Given the description of an element on the screen output the (x, y) to click on. 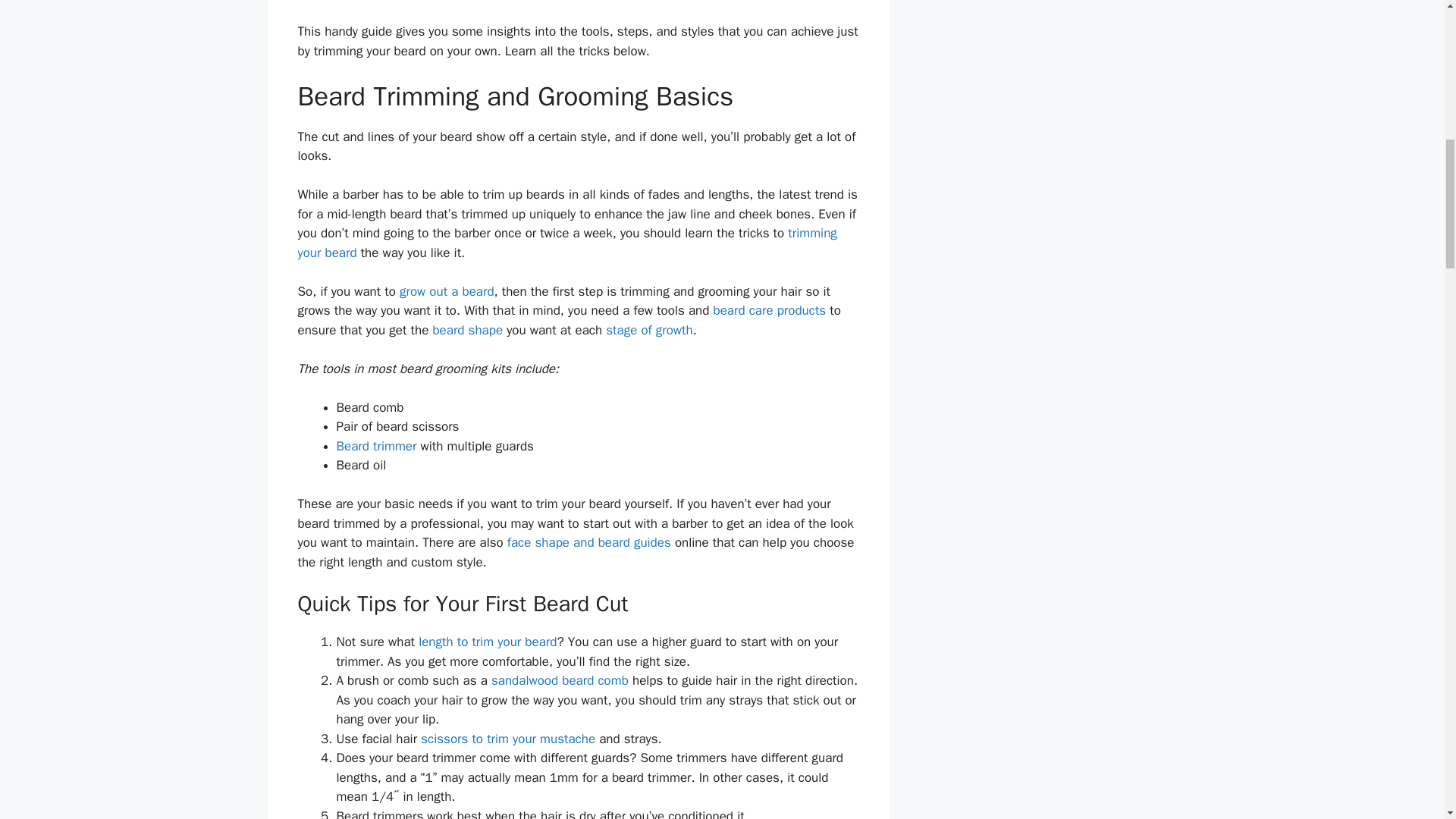
beard care products (769, 310)
length to trim your beard (487, 641)
scissors to trim your mustache (507, 738)
trimming your beard (566, 243)
face shape and beard guides (588, 542)
beard shape (467, 330)
grow out a beard (446, 291)
stage of growth (649, 330)
sandalwood beard comb (560, 680)
Beard trimmer (376, 446)
